Given the description of an element on the screen output the (x, y) to click on. 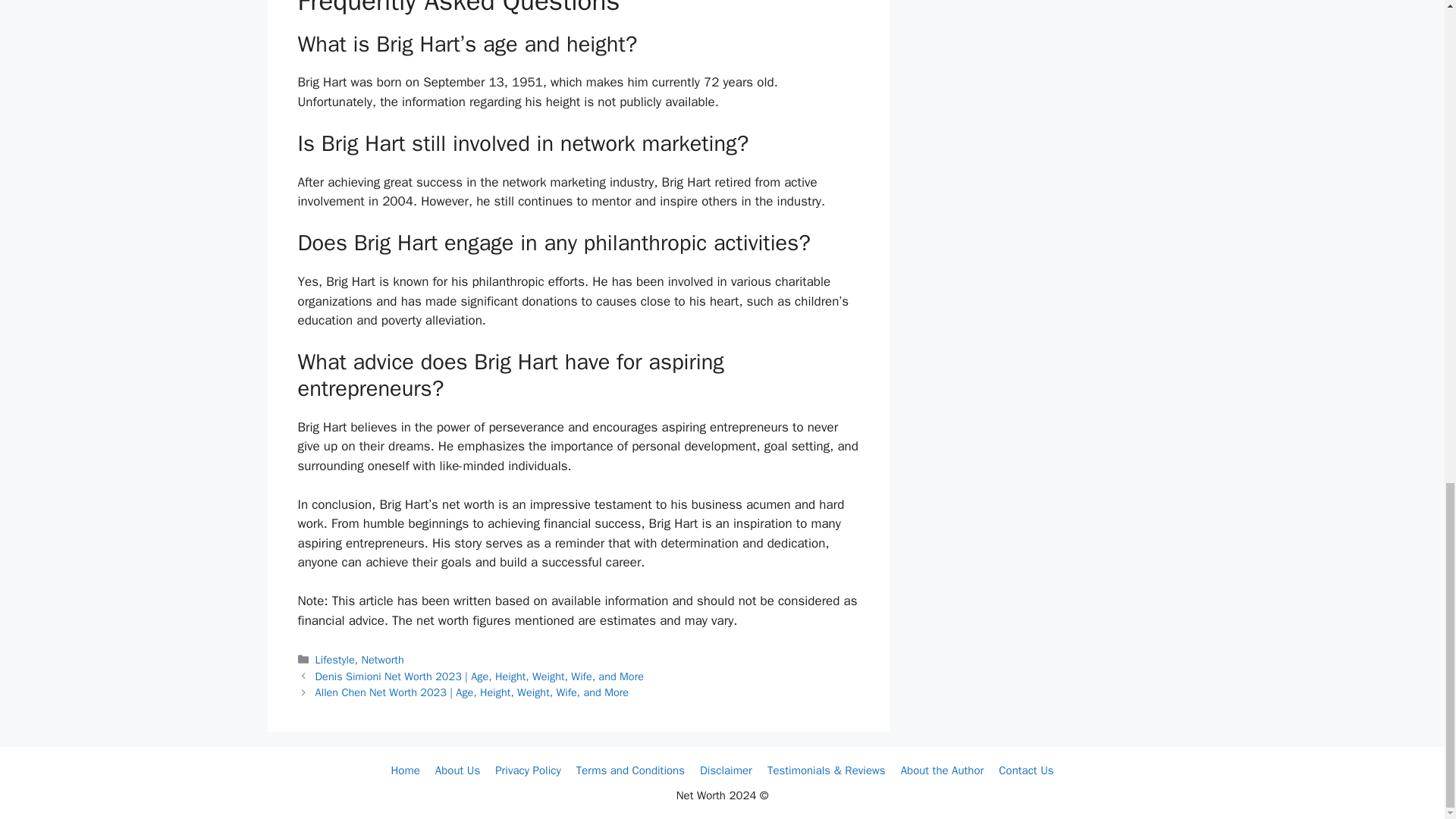
Terms and Conditions (630, 770)
Networth (382, 659)
Lifestyle (335, 659)
Home (404, 770)
Scroll back to top (1406, 347)
About Us (457, 770)
Privacy Policy (527, 770)
Disclaimer (726, 770)
